Given the description of an element on the screen output the (x, y) to click on. 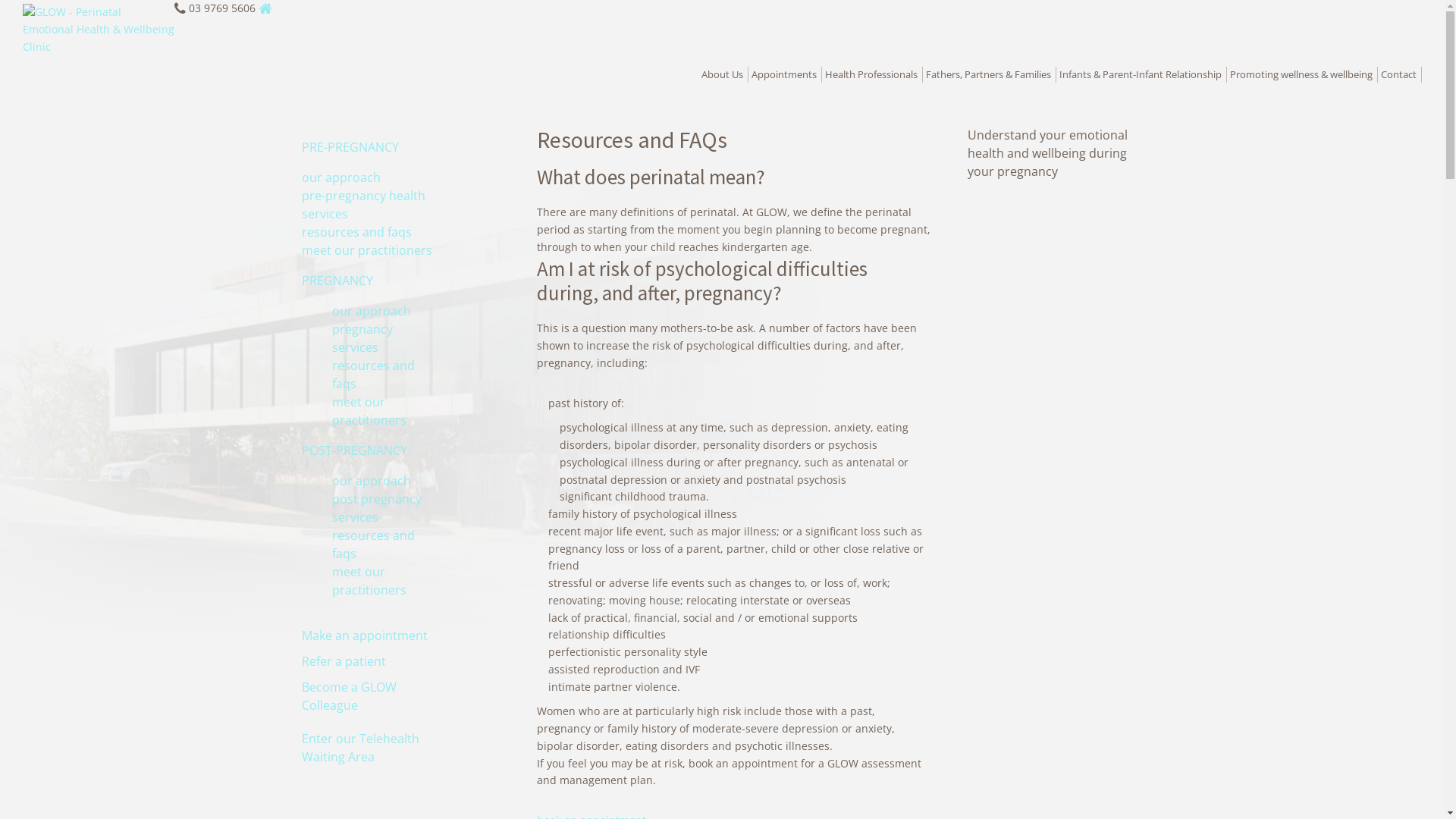
Refer a patient Element type: text (343, 660)
resources and faqs Element type: text (356, 231)
Become a GLOW Colleague Element type: text (348, 695)
Make an appointment Element type: text (364, 635)
Enter our Telehealth Waiting Area Element type: text (360, 747)
Infants & Parent-Infant Relationship Element type: text (1142, 74)
About Us Element type: text (724, 74)
meet our practitioners Element type: text (366, 249)
meet our practitioners Element type: text (369, 580)
Promoting wellness & wellbeing Element type: text (1303, 74)
pregnancy services Element type: text (362, 337)
PRE-PREGNANCY Element type: text (349, 146)
PREGNANCY Element type: text (337, 280)
our approach Element type: text (371, 480)
pre-pregnancy health services Element type: text (363, 204)
resources and faqs Element type: text (373, 544)
Health Professionals Element type: text (873, 74)
POST-PREGNANCY Element type: text (354, 450)
post pregnancy services Element type: text (376, 507)
our approach Element type: text (371, 310)
resources and faqs Element type: text (373, 374)
our approach Element type: text (340, 177)
Glow Clinic Element type: text (42, 69)
Fathers, Partners & Families Element type: text (990, 74)
Contact Element type: text (1400, 74)
meet our practitioners Element type: text (369, 410)
Appointments Element type: text (786, 74)
Skip to primary navigation Element type: text (0, 0)
